Given the description of an element on the screen output the (x, y) to click on. 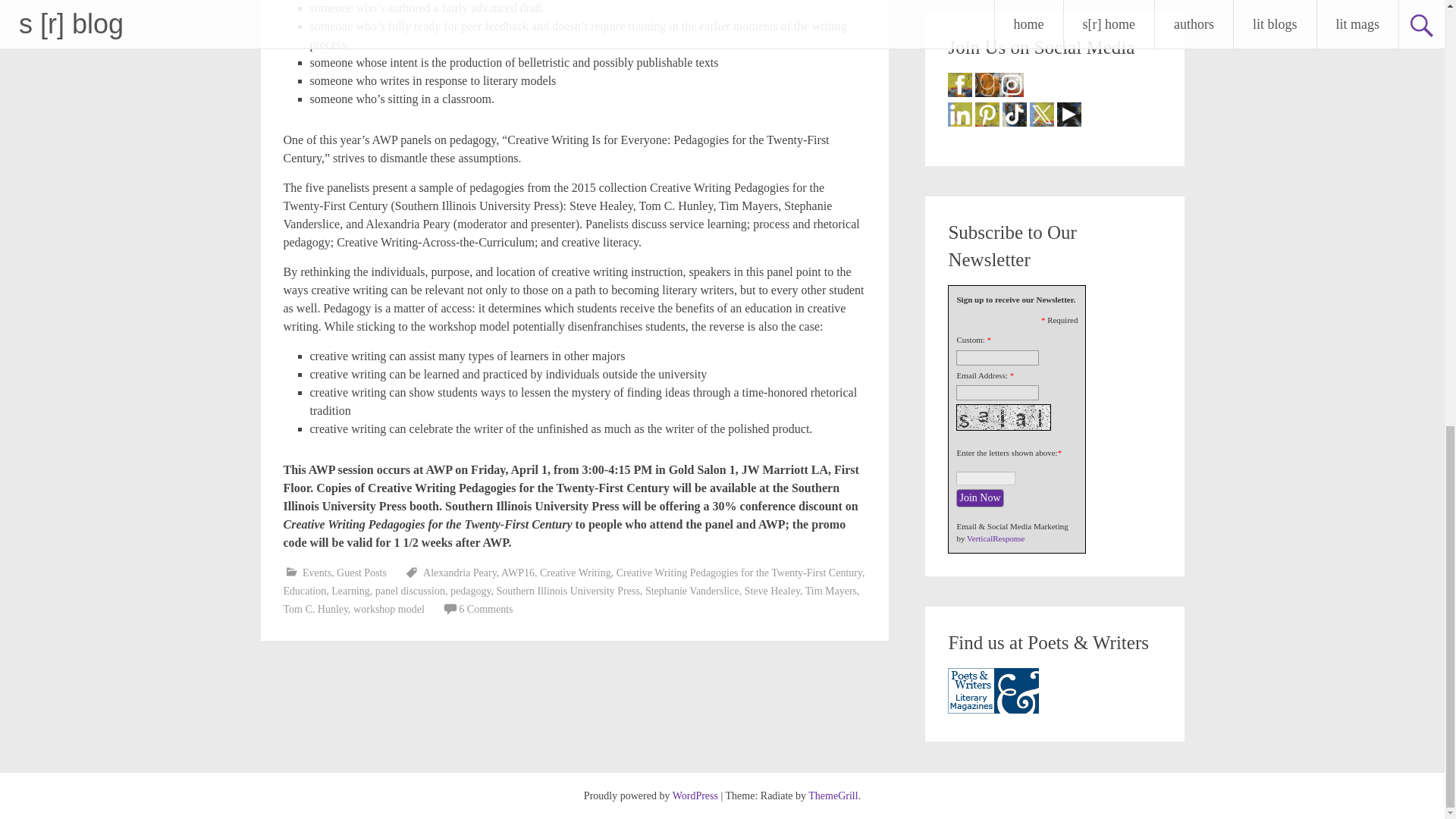
Tom C. Hunley (316, 609)
Stephanie Vanderslice (692, 591)
workshop model (389, 609)
Guest Posts (361, 572)
AWP16 (517, 572)
Creative Writing Pedagogies for the Twenty-First Century (738, 572)
pedagogy (470, 591)
Superstition Review on Instagram (1010, 84)
panel discussion (410, 591)
Alexandria Peary (459, 572)
Steve Healey (771, 591)
Events (316, 572)
Tim Mayers (831, 591)
Join Now (979, 497)
Creative Writing (575, 572)
